Given the description of an element on the screen output the (x, y) to click on. 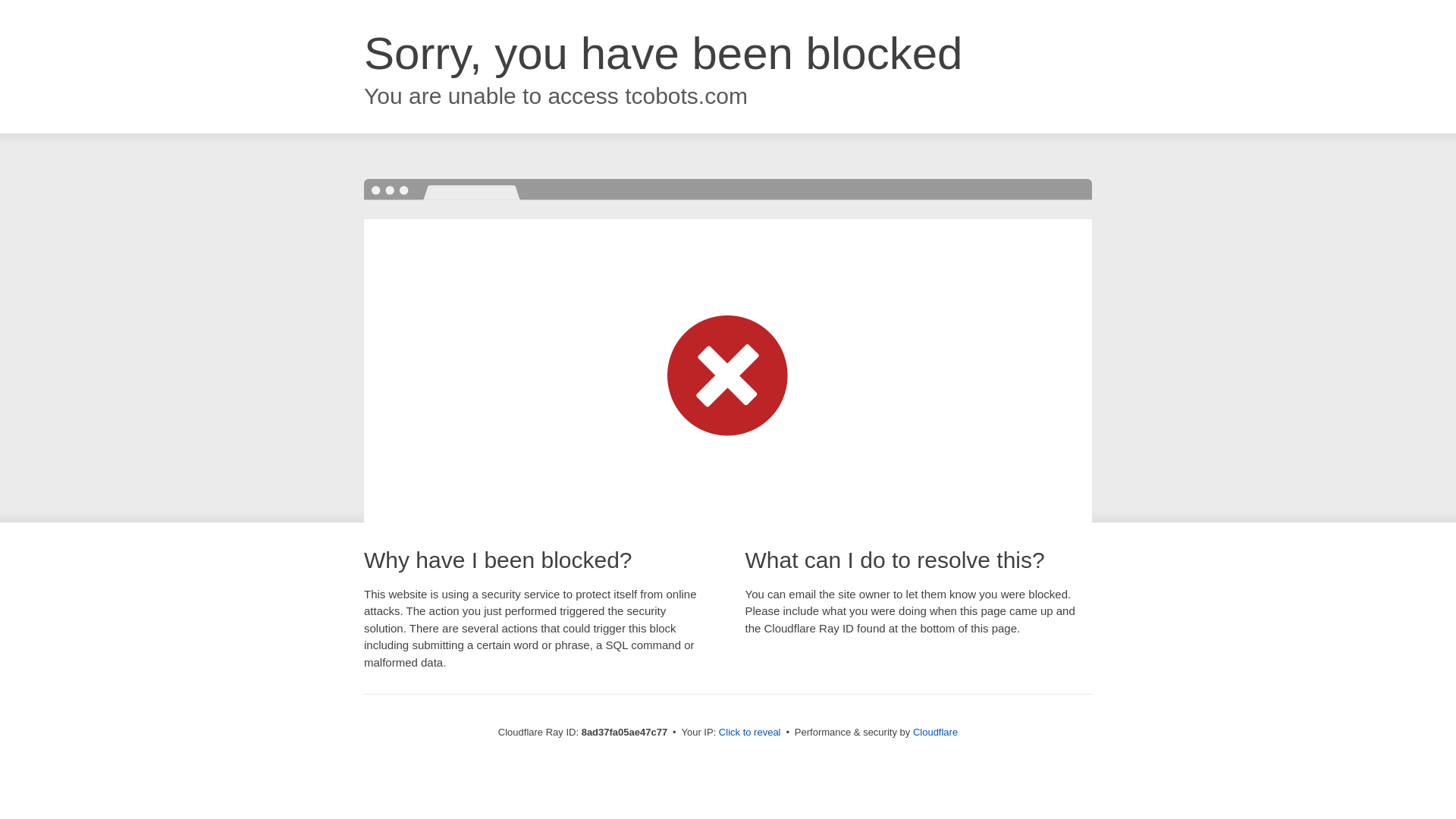
Cloudflare (935, 731)
Click to reveal (749, 732)
